Given the description of an element on the screen output the (x, y) to click on. 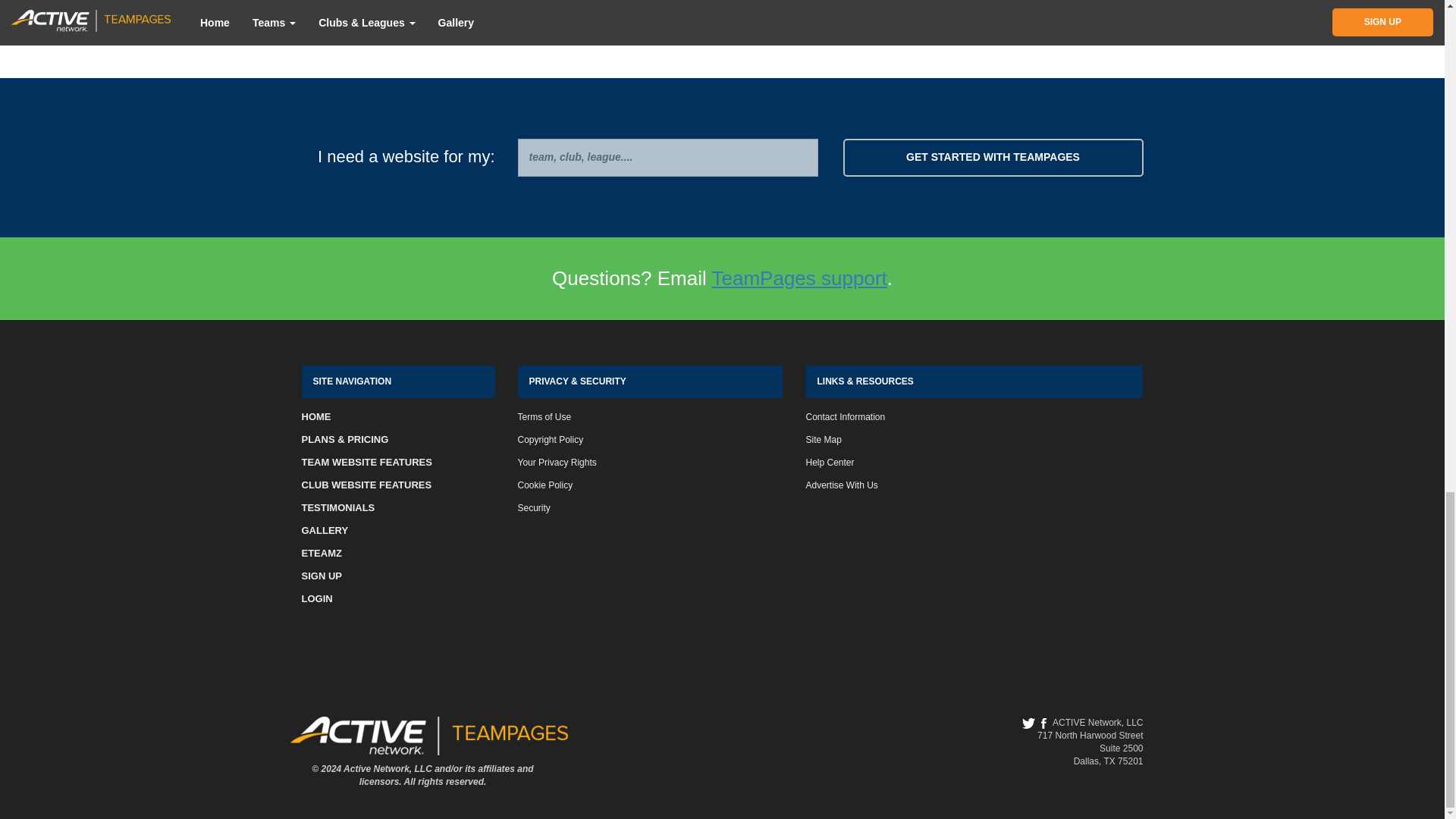
CLUB WEBSITE FEATURES (366, 484)
HOME (316, 416)
TeamPages support (798, 277)
GET STARTED WITH TEAMPAGES (992, 157)
TESTIMONIALS (338, 507)
TEAM WEBSITE FEATURES (366, 461)
